Given the description of an element on the screen output the (x, y) to click on. 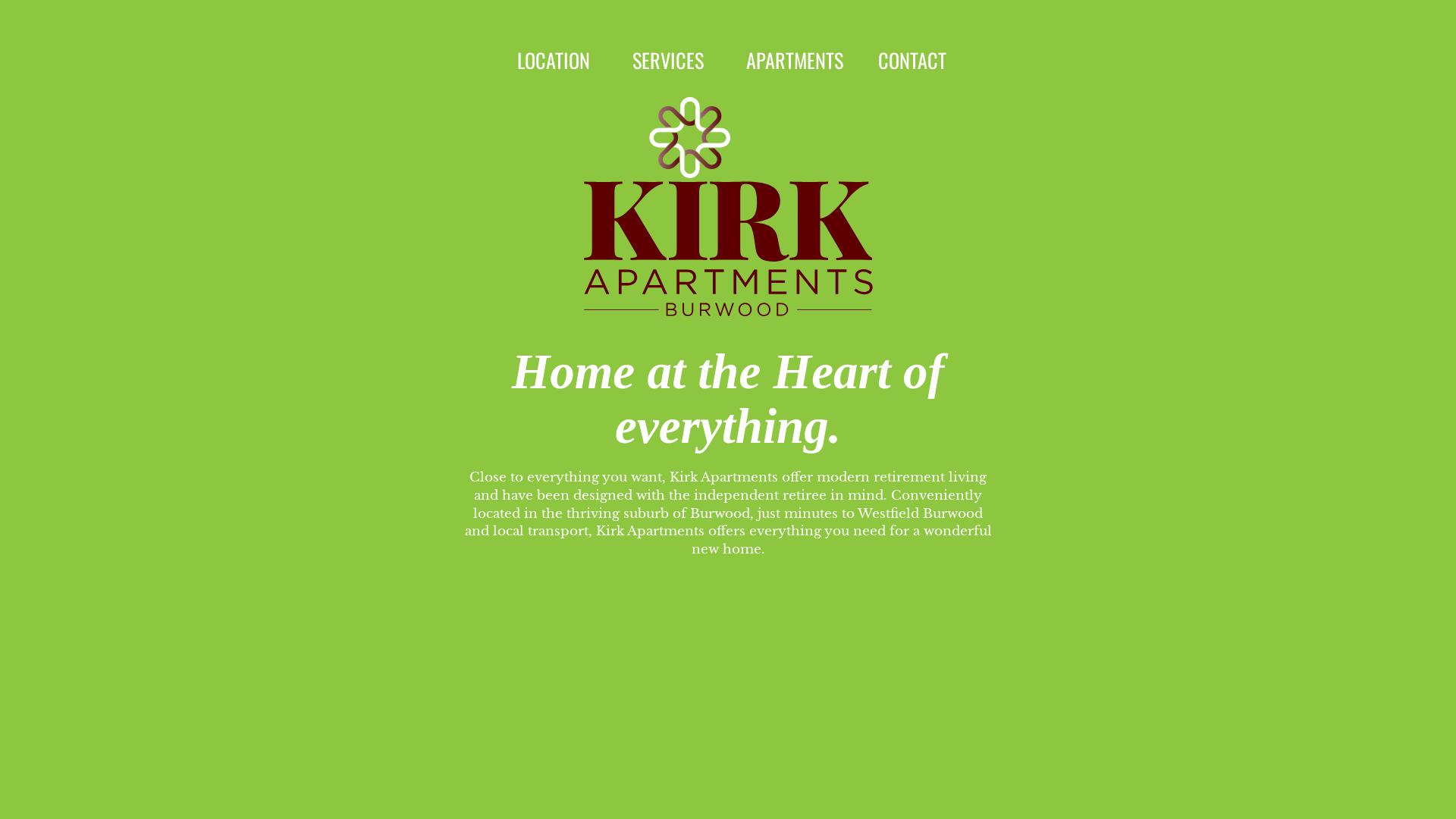
Home Element type: text (727, 206)
SERVICES Element type: text (667, 60)
LOCATION Element type: text (553, 60)
Conveniently located Element type: text (727, 504)
modern retirement living Element type: text (901, 477)
APARTMENTS Element type: text (794, 60)
CONTACT Element type: text (912, 60)
